Given the description of an element on the screen output the (x, y) to click on. 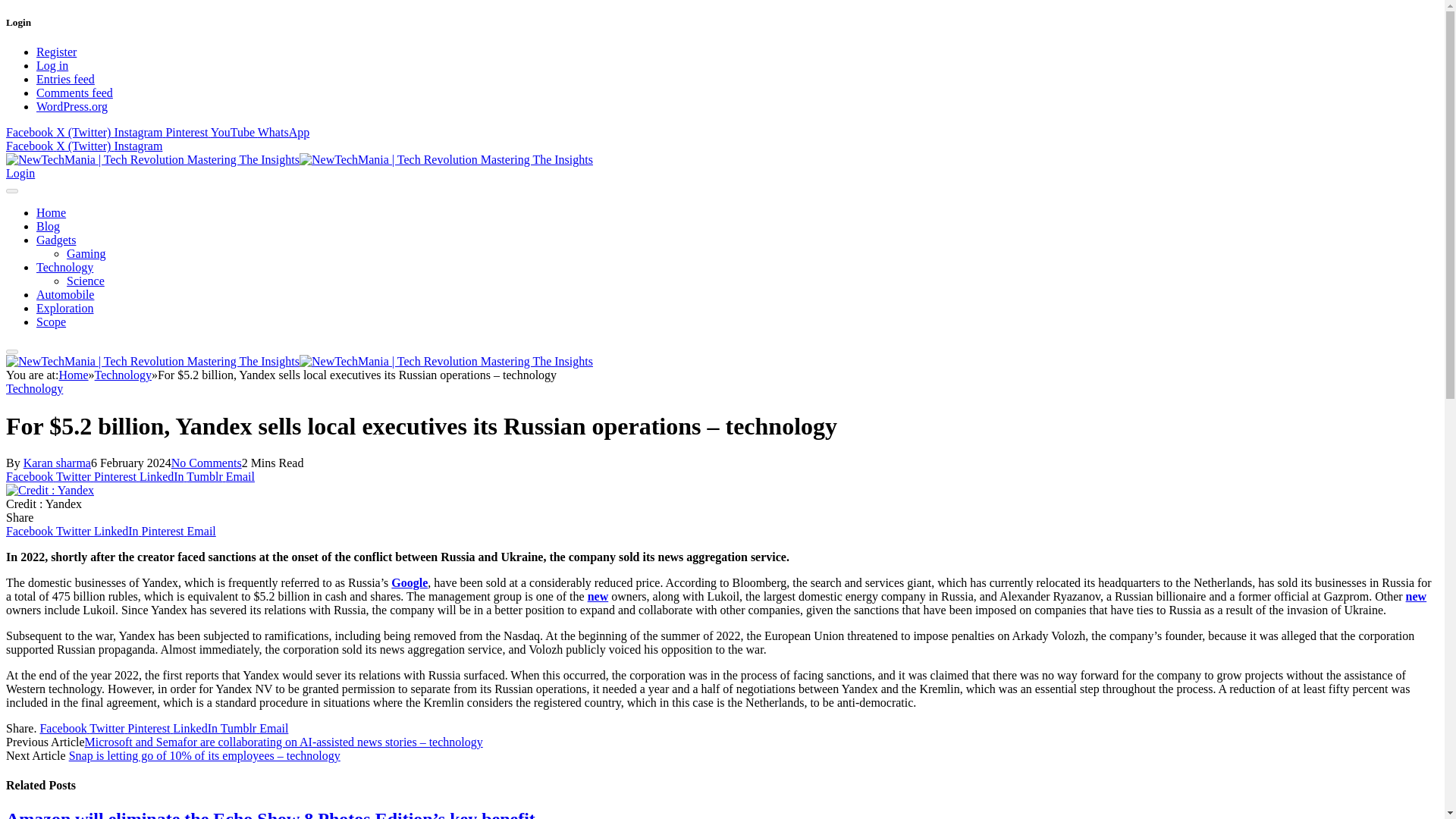
Gadgets (55, 239)
Posts by Karan sharma (56, 462)
Scope (50, 321)
Share via Email (239, 476)
Technology (122, 374)
Automobile (65, 294)
Facebook (30, 476)
Blog (47, 226)
Share on LinkedIn (162, 476)
WordPress.org (71, 106)
